Given the description of an element on the screen output the (x, y) to click on. 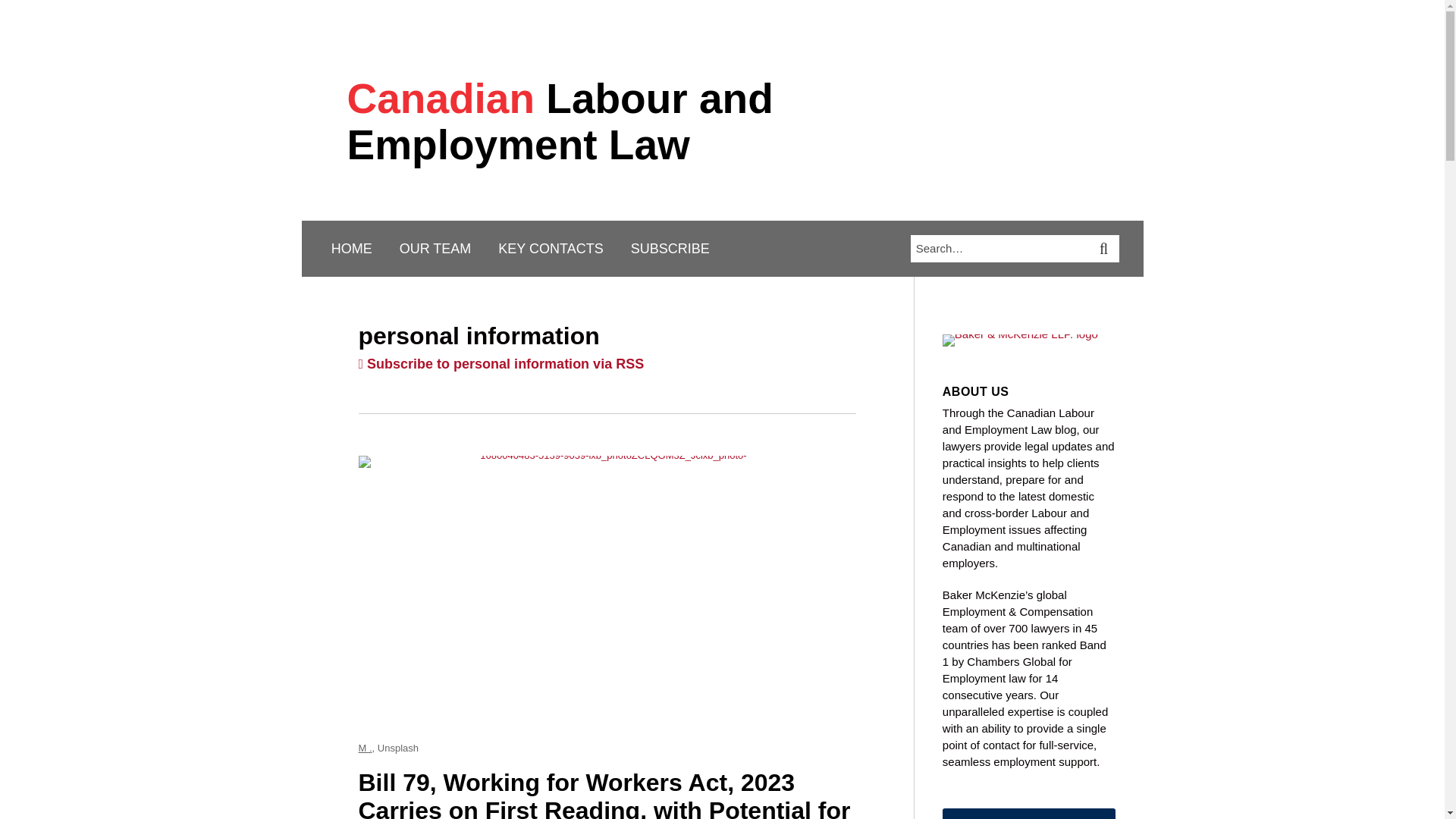
Canadian Labour and Employment Law (560, 121)
SEARCH (1105, 248)
HOME (351, 248)
KEY CONTACTS (549, 248)
Subscribe to personal information via RSS (500, 363)
SUBSCRIBE (670, 248)
OUR TEAM (434, 248)
M . (364, 747)
